Given the description of an element on the screen output the (x, y) to click on. 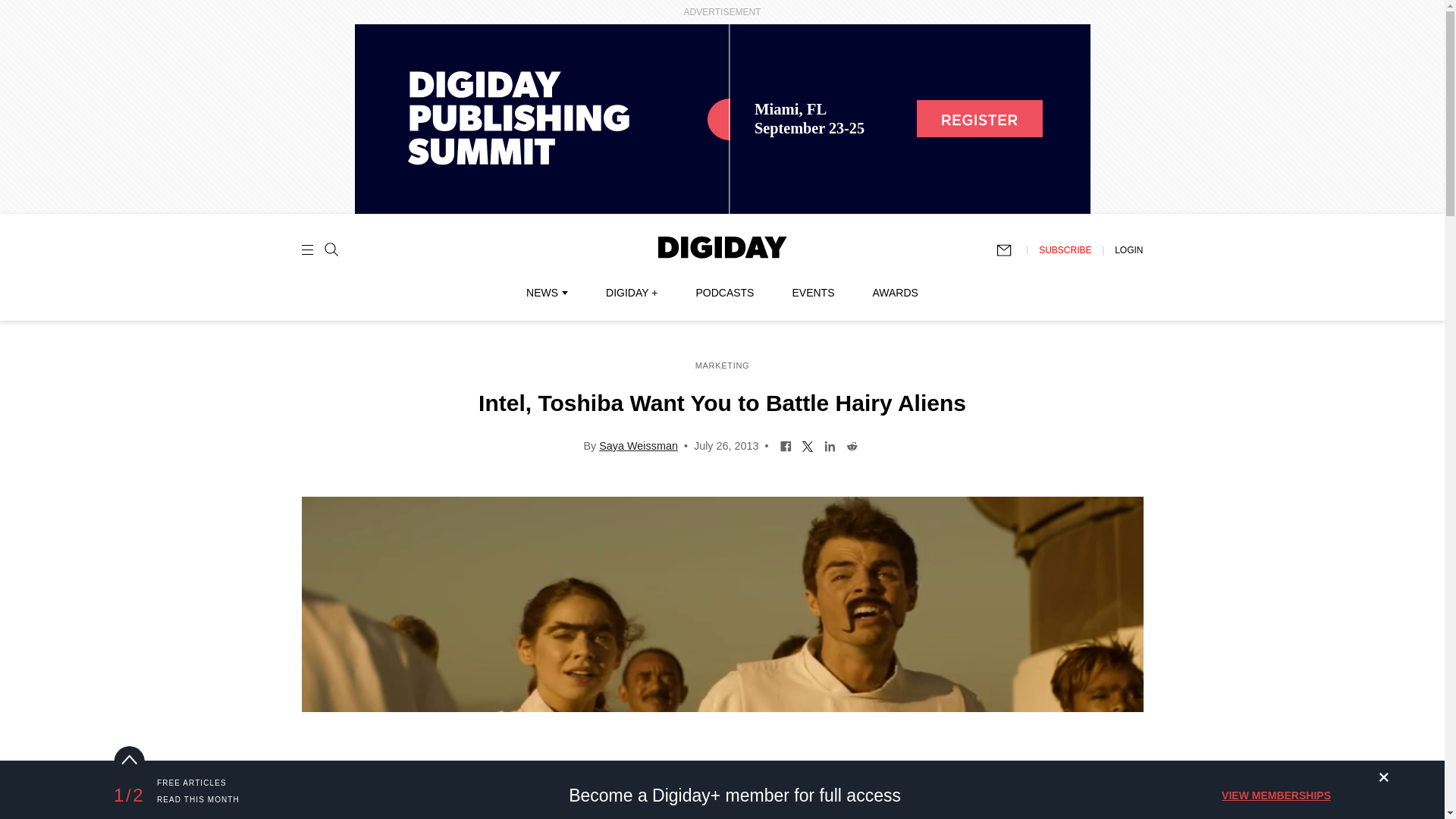
Share on Twitter (807, 444)
Share on LinkedIn (829, 444)
SUBSCRIBE (1064, 249)
PODCASTS (725, 292)
LOGIN (1128, 249)
Share on Reddit (852, 444)
Share on Facebook (785, 444)
AWARDS (894, 292)
NEWS (546, 292)
Subscribe (1010, 250)
EVENTS (813, 292)
